Given the description of an element on the screen output the (x, y) to click on. 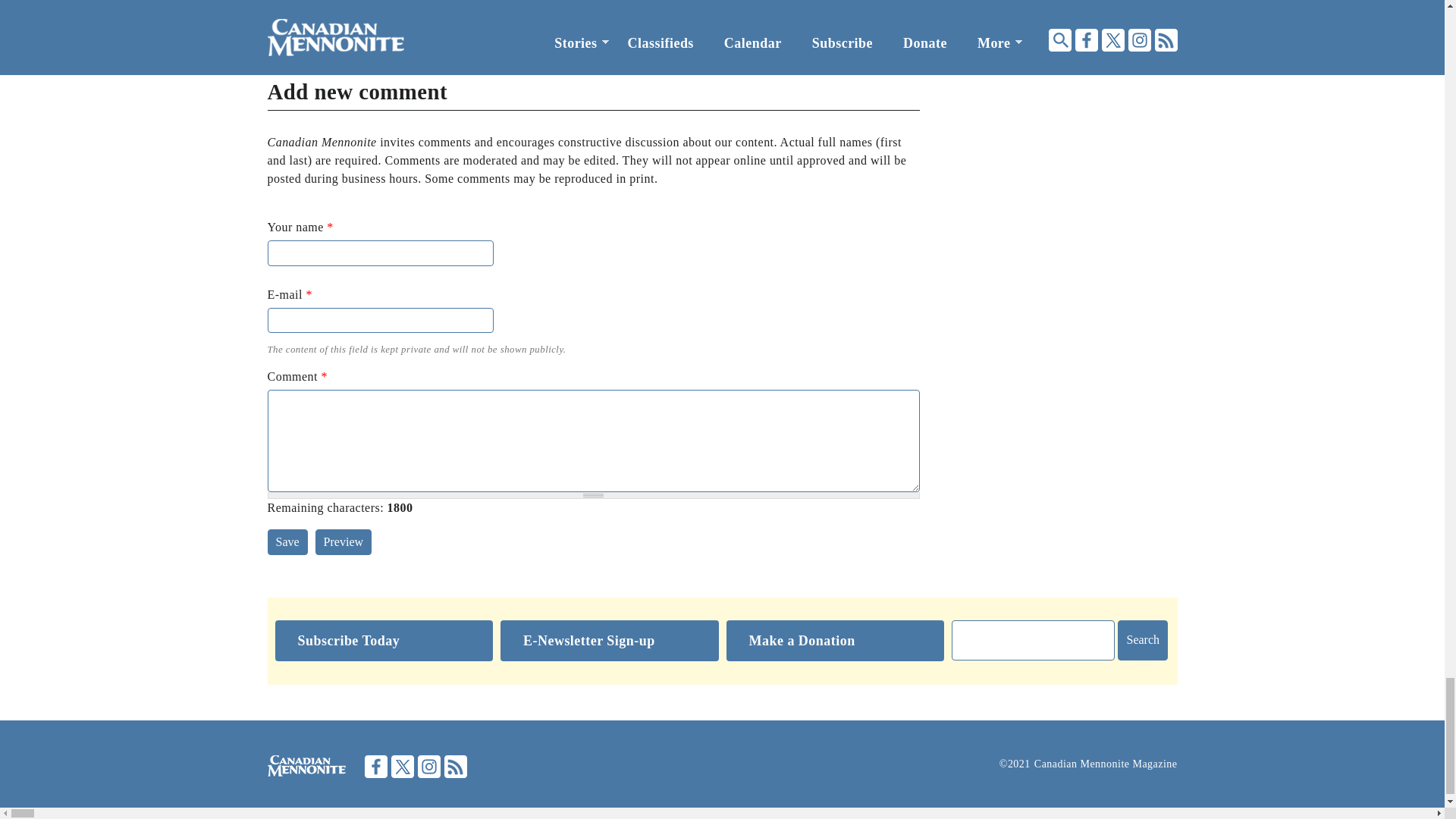
Save (286, 541)
Preview (343, 541)
Search (1142, 639)
